Given the description of an element on the screen output the (x, y) to click on. 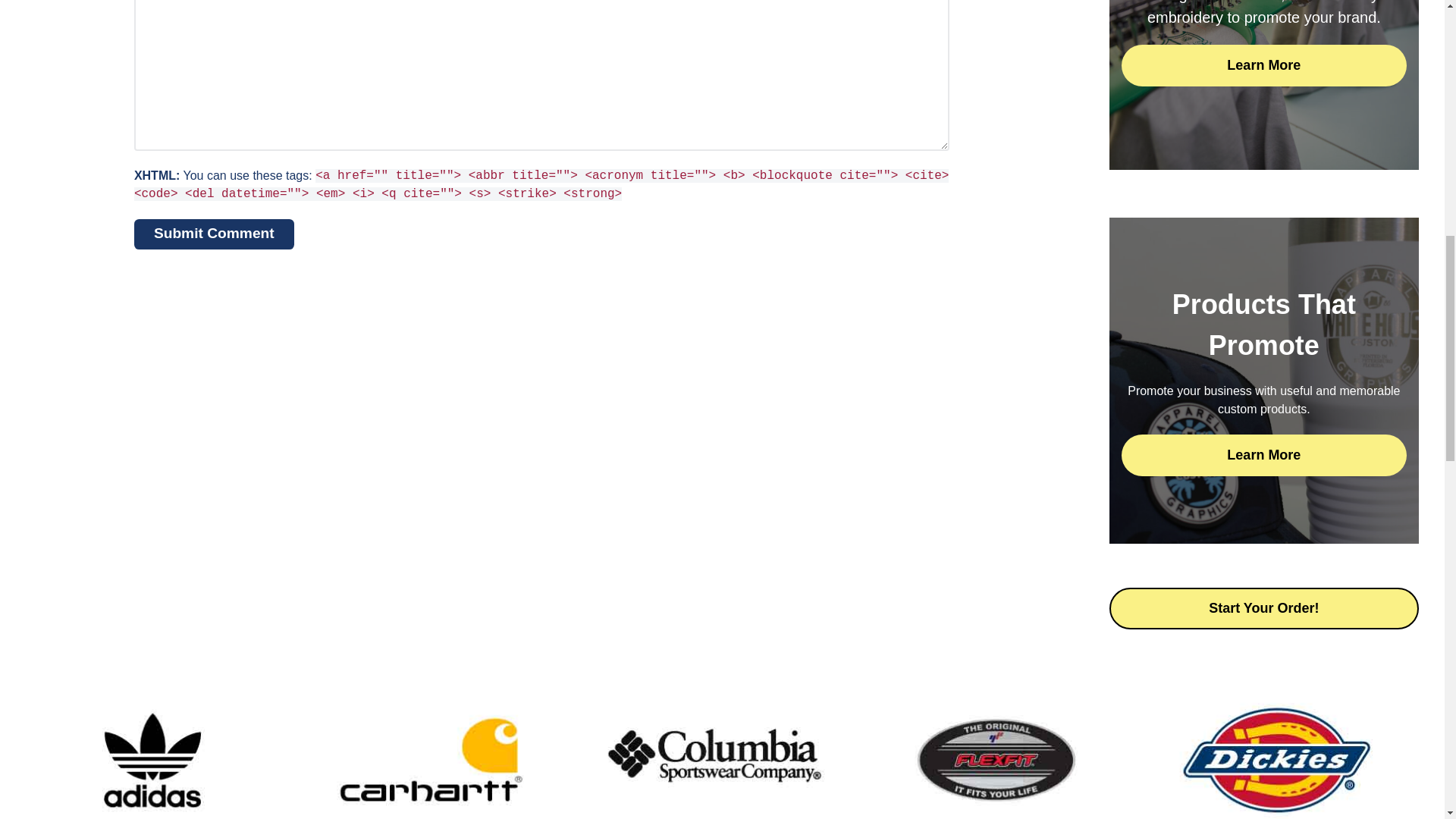
Learn More (1263, 454)
Submit Comment (213, 234)
Start Your Order! (1263, 608)
Learn More (1263, 65)
Submit Comment (213, 234)
